Given the description of an element on the screen output the (x, y) to click on. 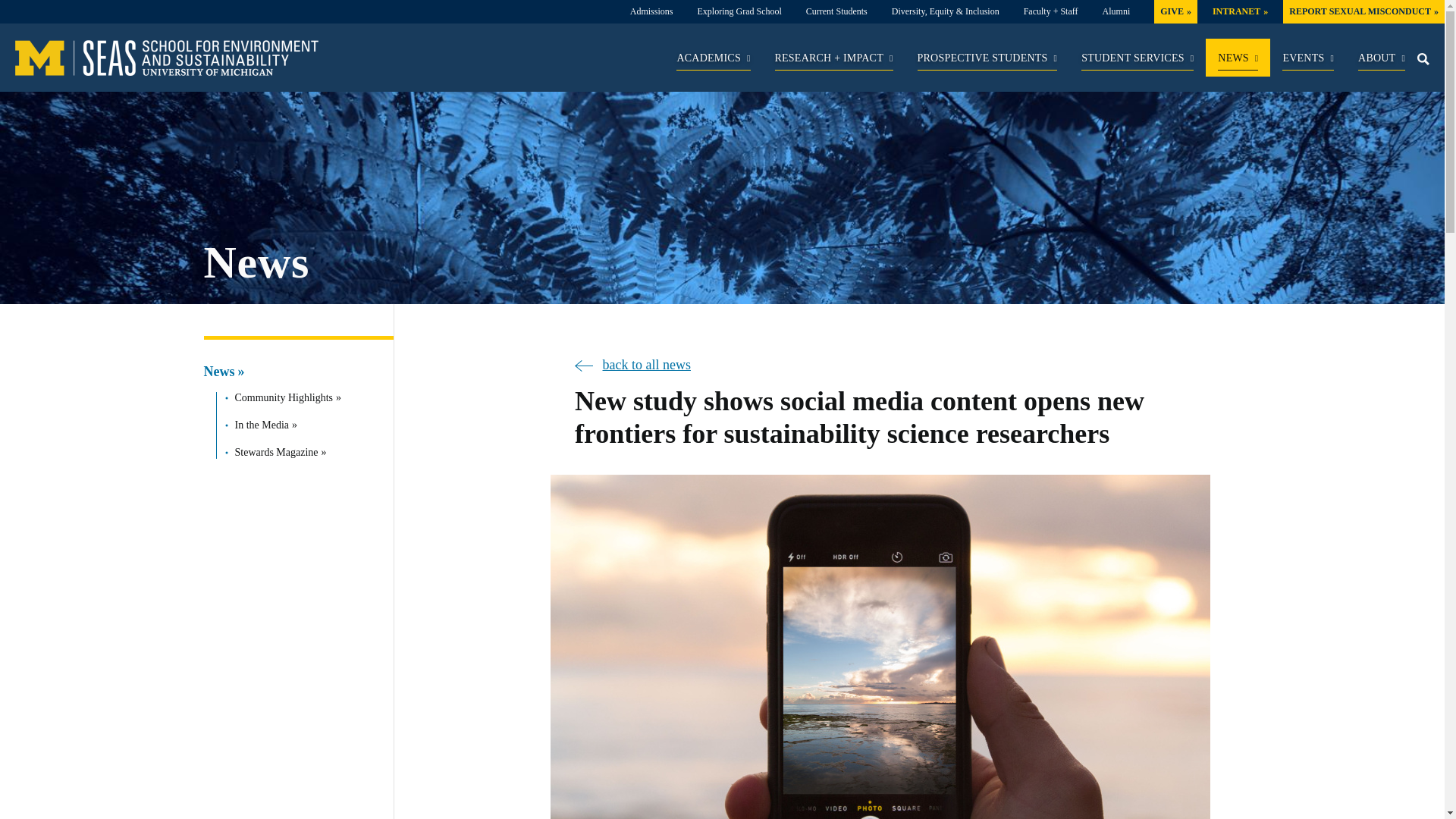
REPORT SEXUAL MISCONDUCT (1363, 10)
Exploring Grad School (738, 10)
ACADEMICS (713, 61)
INTRANET (1240, 10)
Alumni (1116, 10)
PROSPECTIVE STUDENTS (987, 61)
Admissions (651, 10)
GIVE (1175, 10)
Current Students (836, 10)
